Given the description of an element on the screen output the (x, y) to click on. 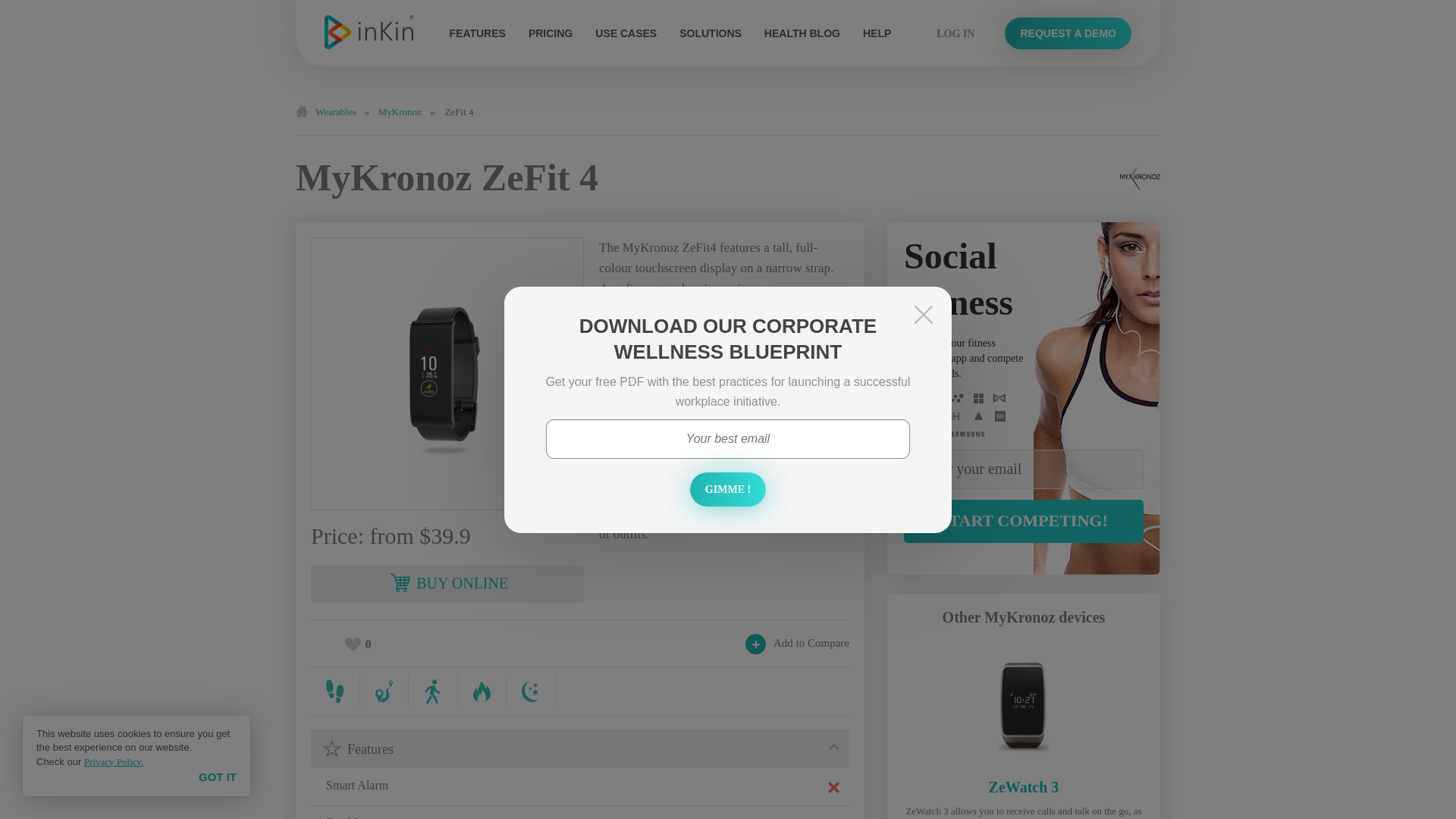
MyKronoz (400, 111)
Wearables (336, 111)
Sleep Analysis (531, 690)
LOG IN (955, 32)
MyKronoz (1139, 178)
Activity (433, 690)
FEATURES (476, 33)
GIMME ! (727, 488)
PRICING (550, 33)
REQUEST A DEMO (1067, 32)
Start Competing! (1023, 520)
USE CASES (625, 33)
Privacy Policy. (114, 761)
Start Competing! (1023, 520)
